Given the description of an element on the screen output the (x, y) to click on. 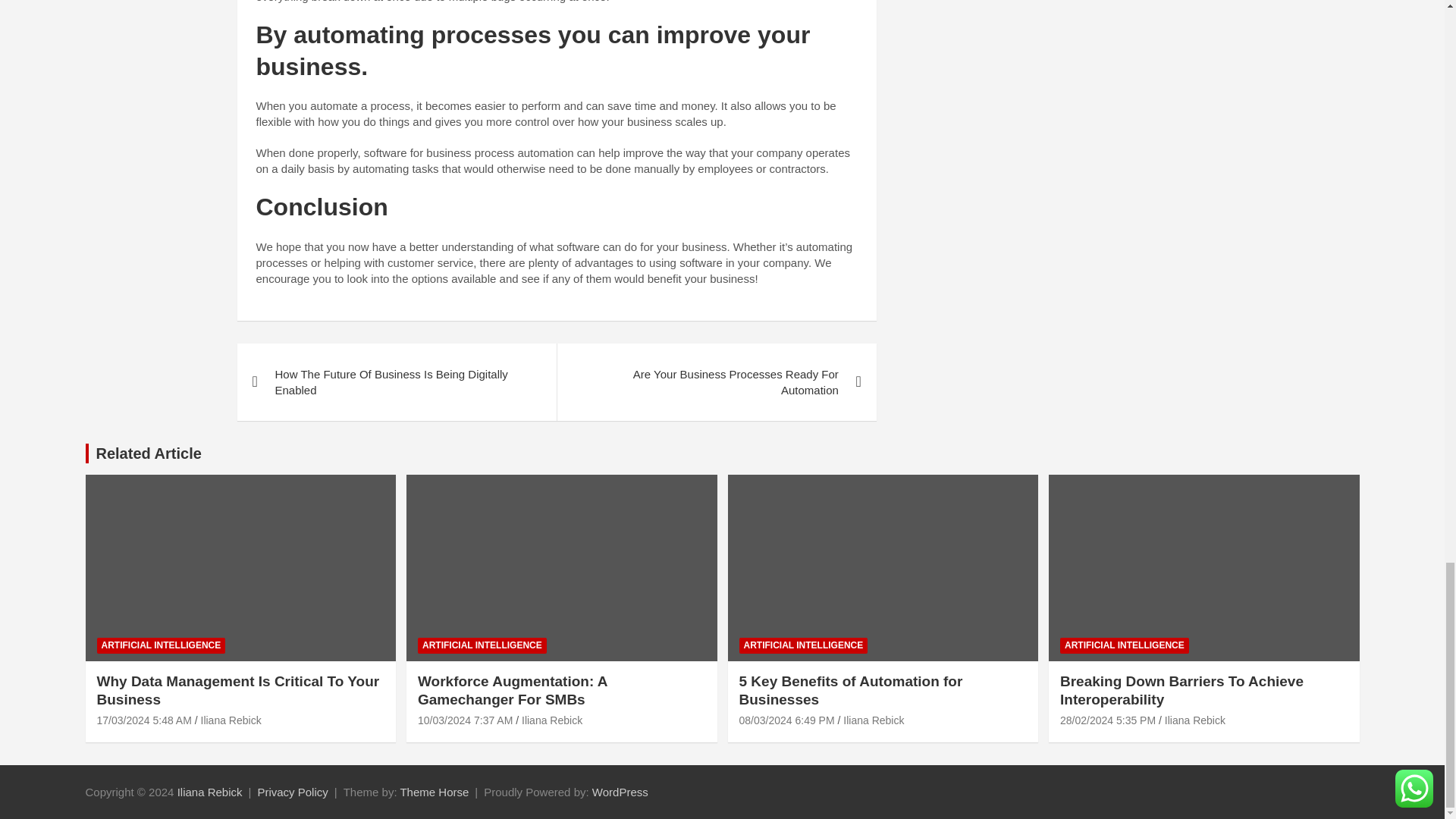
Are Your Business Processes Ready For Automation (716, 381)
How The Future Of Business Is Being Digitally Enabled (395, 381)
